Given the description of an element on the screen output the (x, y) to click on. 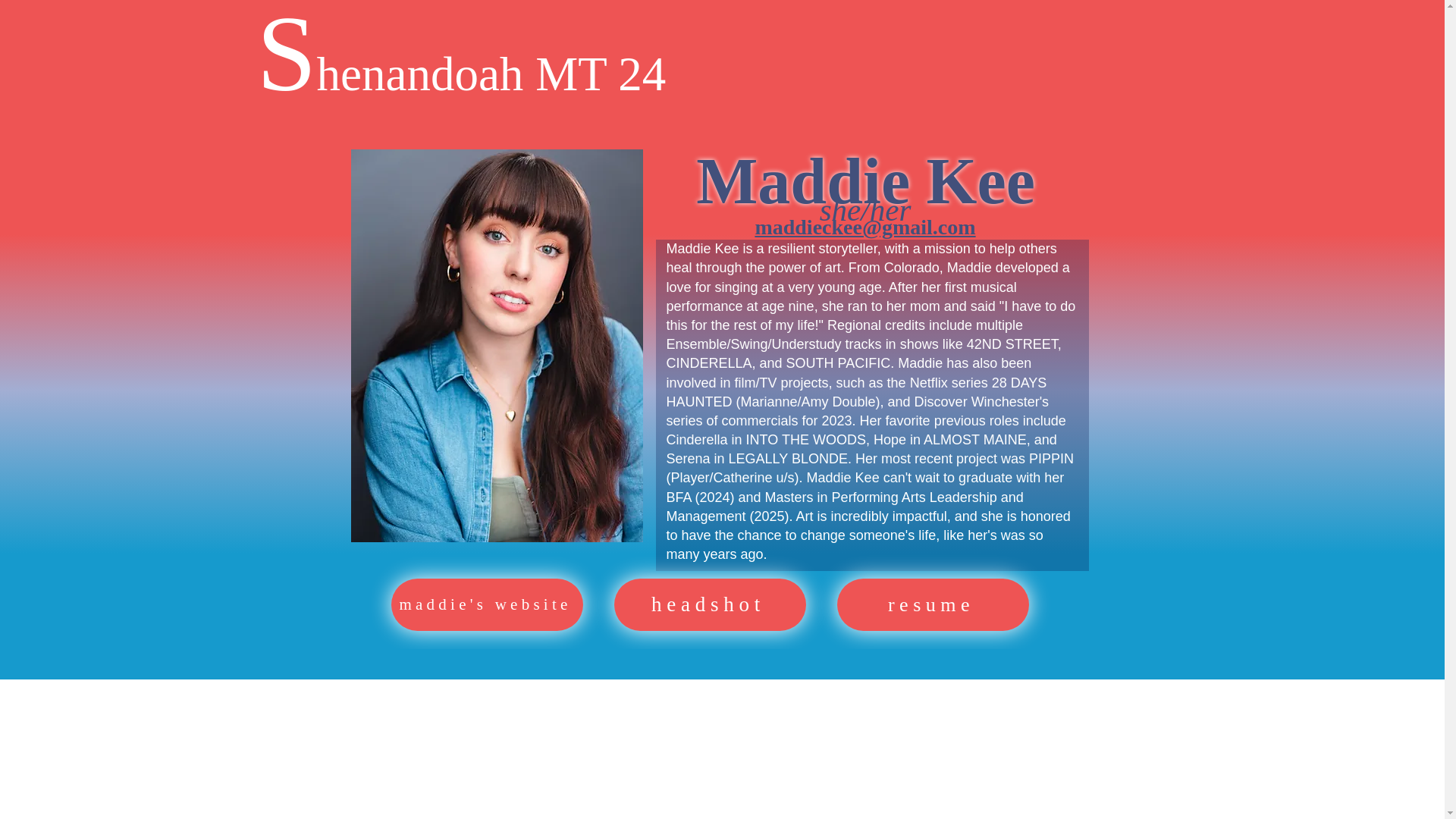
resume (933, 604)
Shenandoah MT 24 (460, 72)
maddie's website (487, 604)
headshot (710, 604)
